Given the description of an element on the screen output the (x, y) to click on. 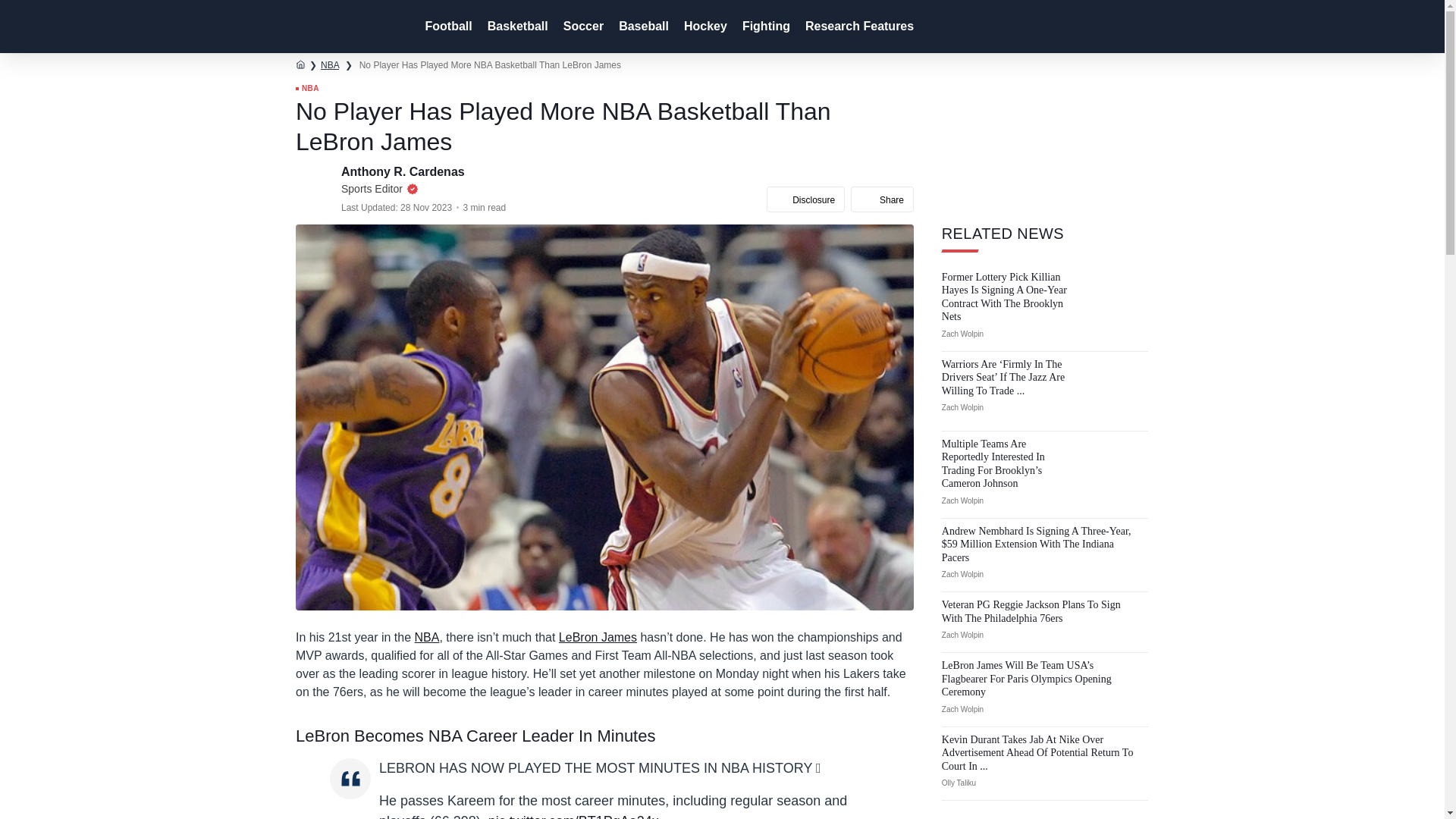
Share (882, 199)
NBA (426, 636)
NBA (329, 64)
Football (445, 26)
LeBron James (598, 636)
Basketball (516, 26)
Anthony R. Cardenas (403, 171)
Fighting (764, 26)
Hockey (704, 26)
Research Features (858, 26)
Soccer (582, 26)
NBA (306, 88)
Baseball (642, 26)
